Given the description of an element on the screen output the (x, y) to click on. 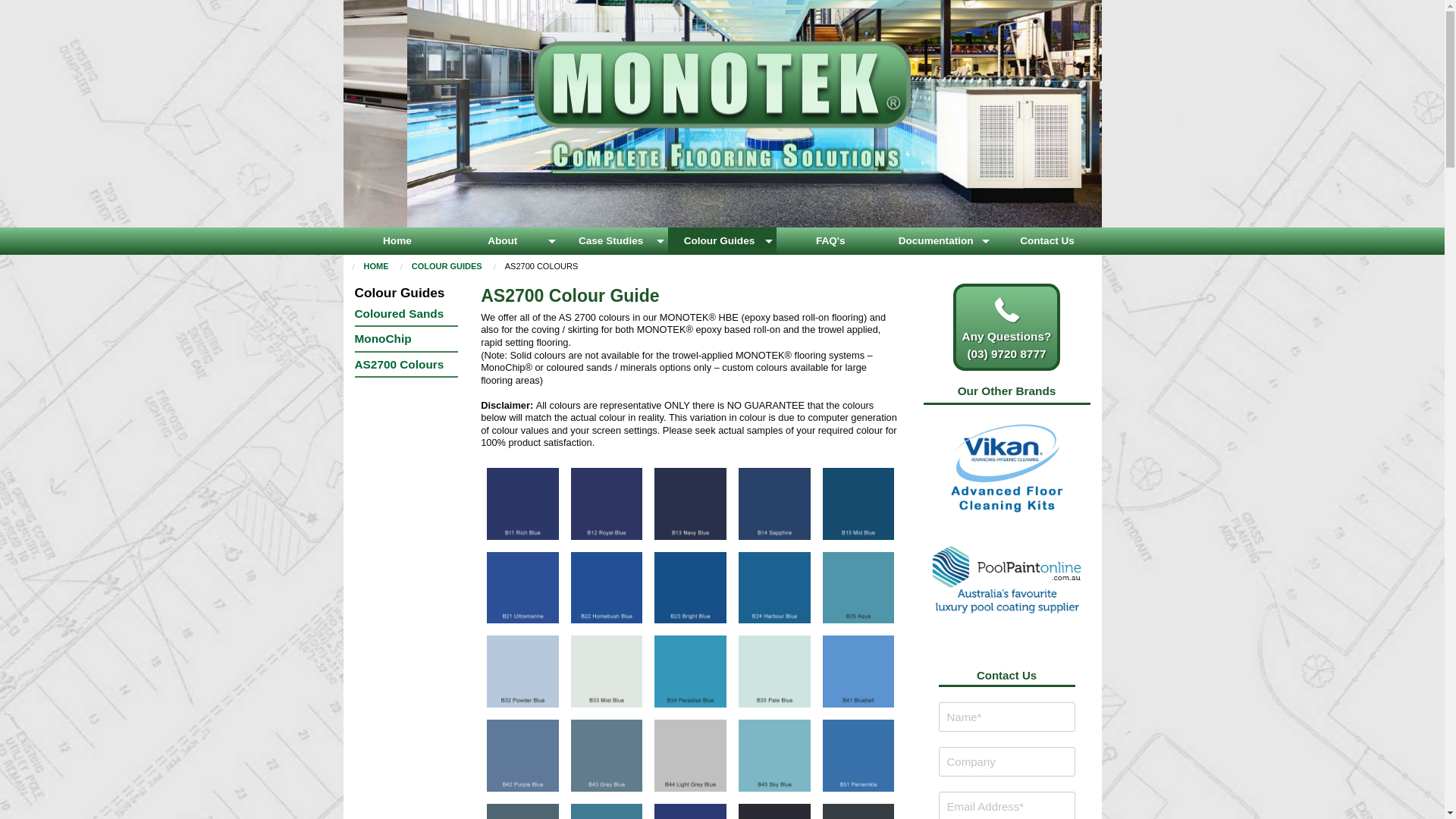
Colour Guides Element type: text (722, 240)
Colour Guides Element type: text (406, 292)
About Element type: text (505, 240)
Case Studies Element type: text (613, 240)
COLOUR GUIDES Element type: text (446, 265)
Home Element type: text (396, 240)
AS2700 Colours Element type: text (406, 364)
FAQ's Element type: text (830, 240)
HOME Element type: text (376, 265)
Coloured Sands Element type: text (406, 313)
Any Questions?
(03) 9720 8777 Element type: text (1006, 326)
MonoChip Element type: text (406, 338)
Documentation Element type: text (938, 240)
Contact Us Element type: text (1047, 240)
